Given the description of an element on the screen output the (x, y) to click on. 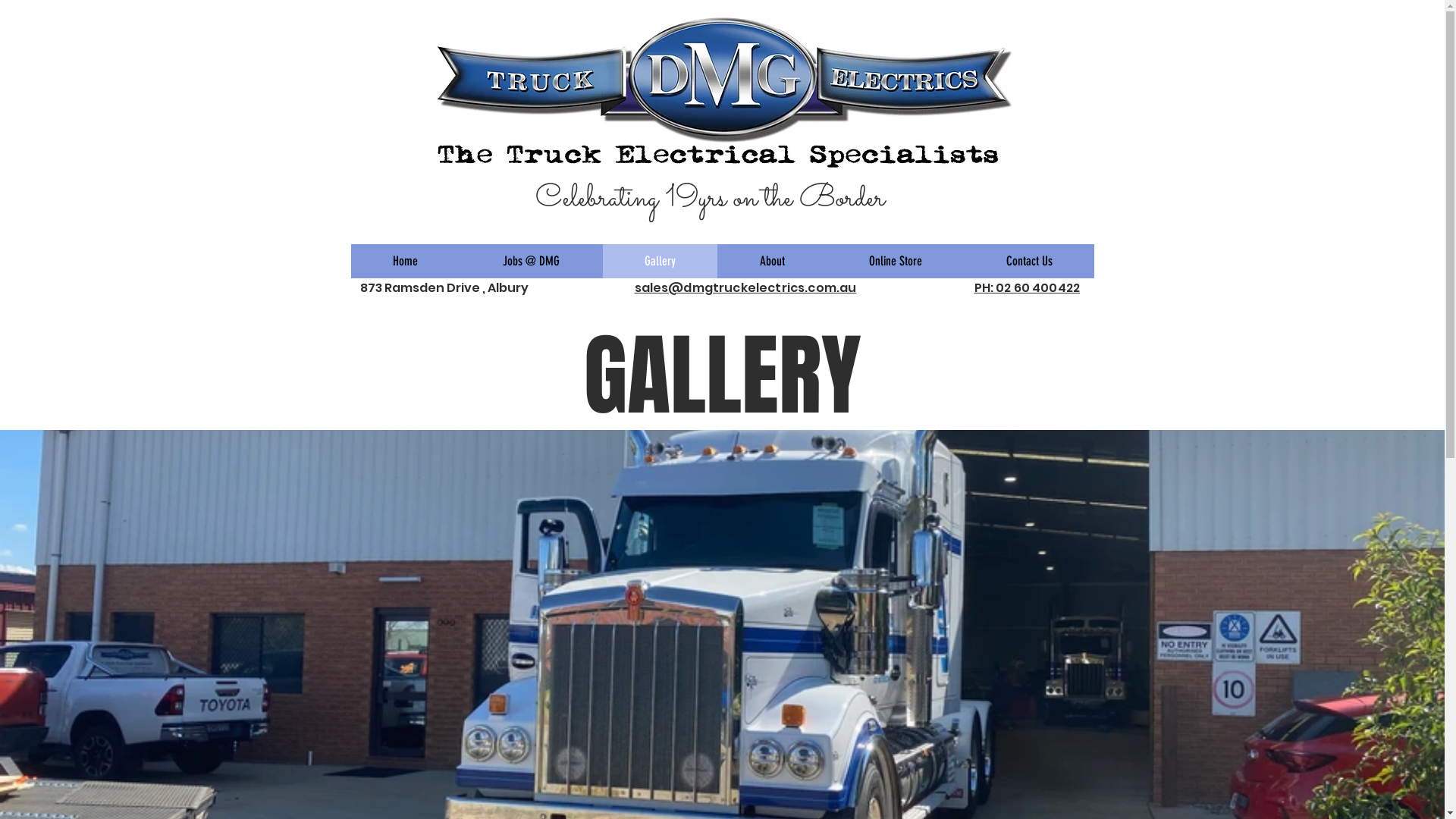
Gallery Element type: text (659, 261)
About Element type: text (771, 261)
PH: 02 60 400422 Element type: text (1026, 286)
Online Store Element type: text (894, 261)
Contact Us Element type: text (1028, 261)
sales@dmgtruckelectrics.com.au Element type: text (744, 286)
Home Element type: text (404, 261)
DMG Truck Electrics.jpg Element type: hover (721, 92)
Jobs @ DMG Element type: text (530, 261)
